Given the description of an element on the screen output the (x, y) to click on. 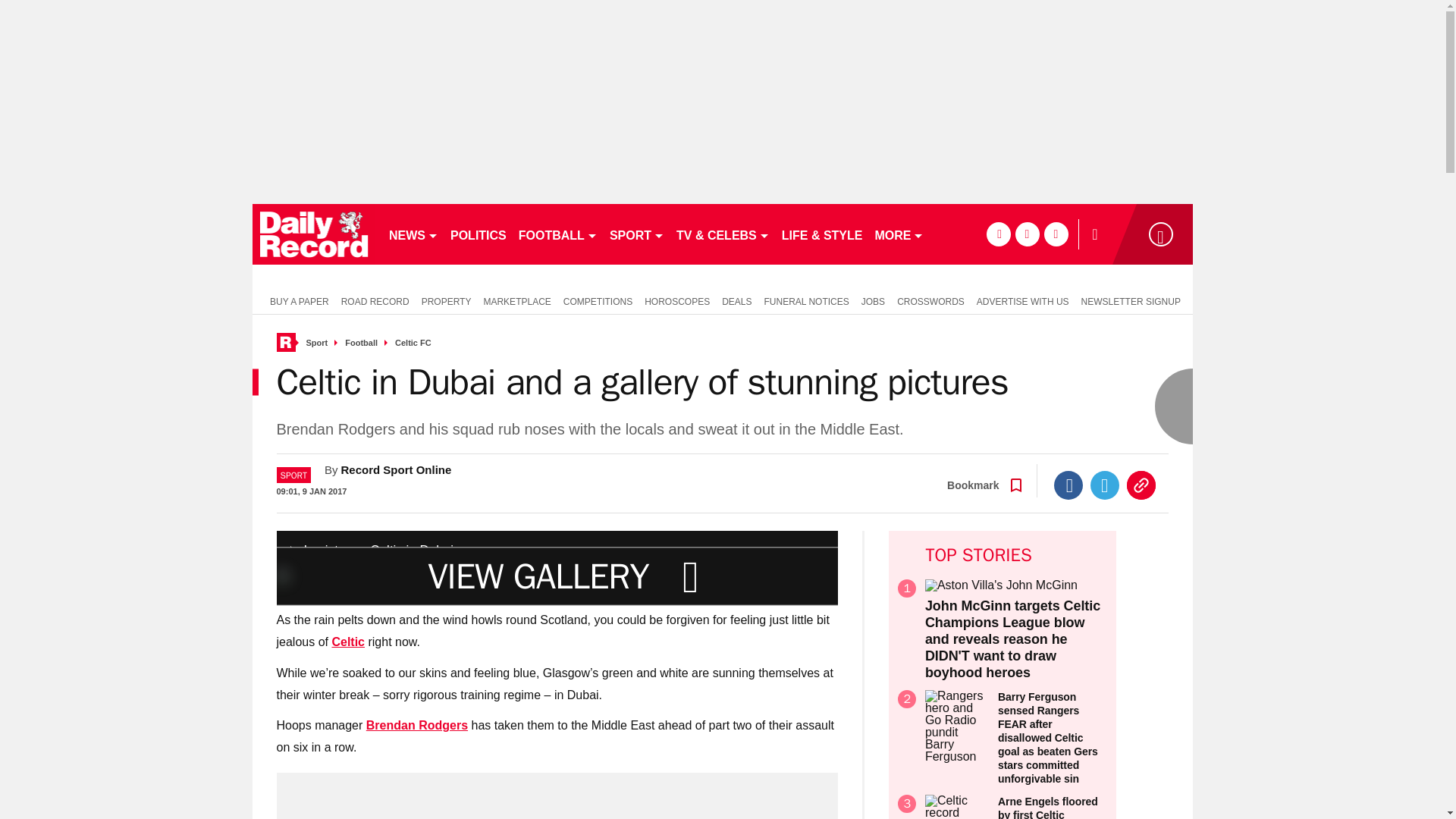
FOOTBALL (558, 233)
Twitter (1104, 484)
POLITICS (478, 233)
NEWS (413, 233)
Facebook (1068, 484)
Read More (348, 641)
instagram (1055, 233)
twitter (1026, 233)
facebook (997, 233)
Read More (416, 725)
